Given the description of an element on the screen output the (x, y) to click on. 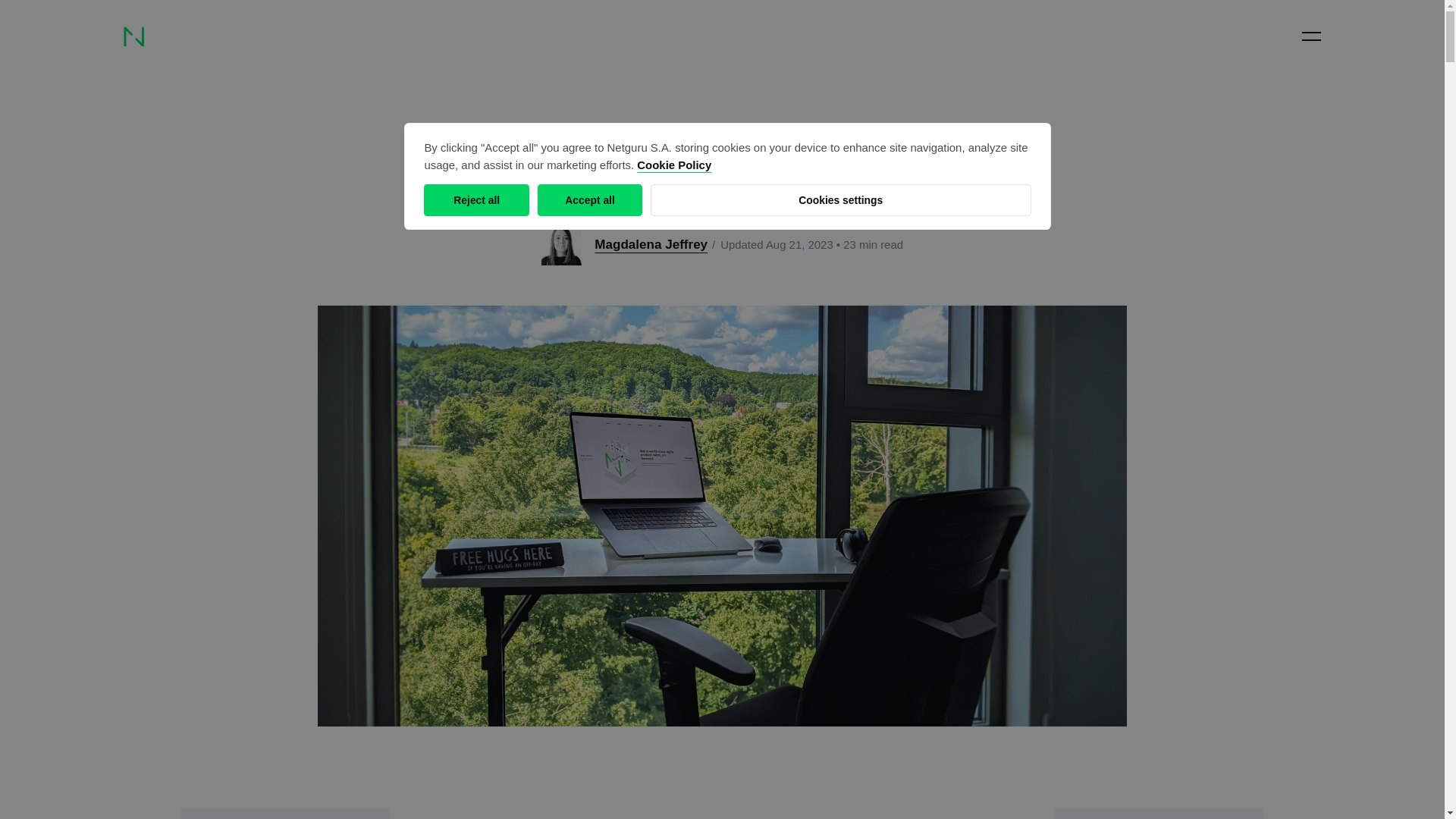
Toggle menu (1310, 36)
